Given the description of an element on the screen output the (x, y) to click on. 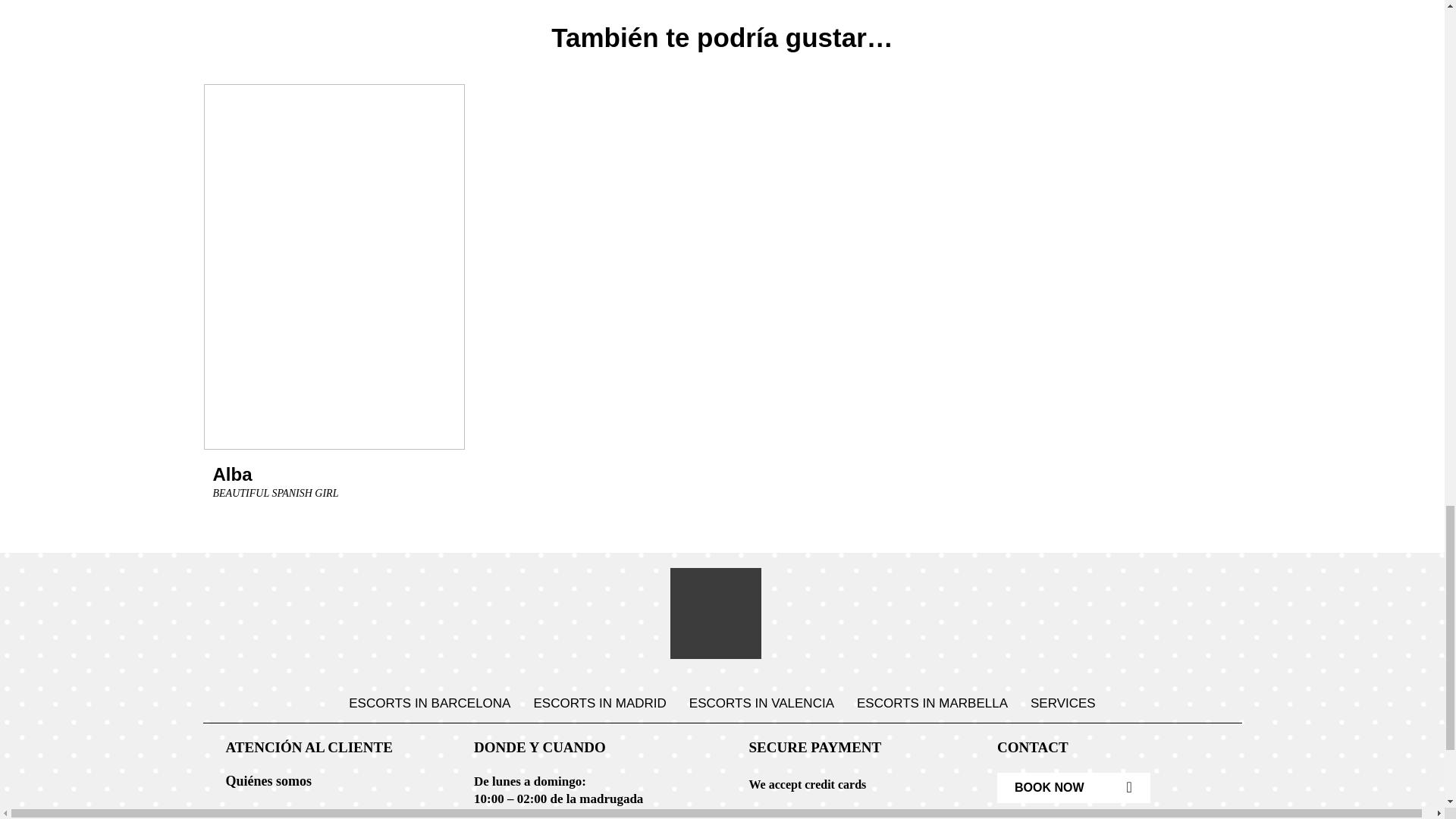
Alba (800, 815)
